Given the description of an element on the screen output the (x, y) to click on. 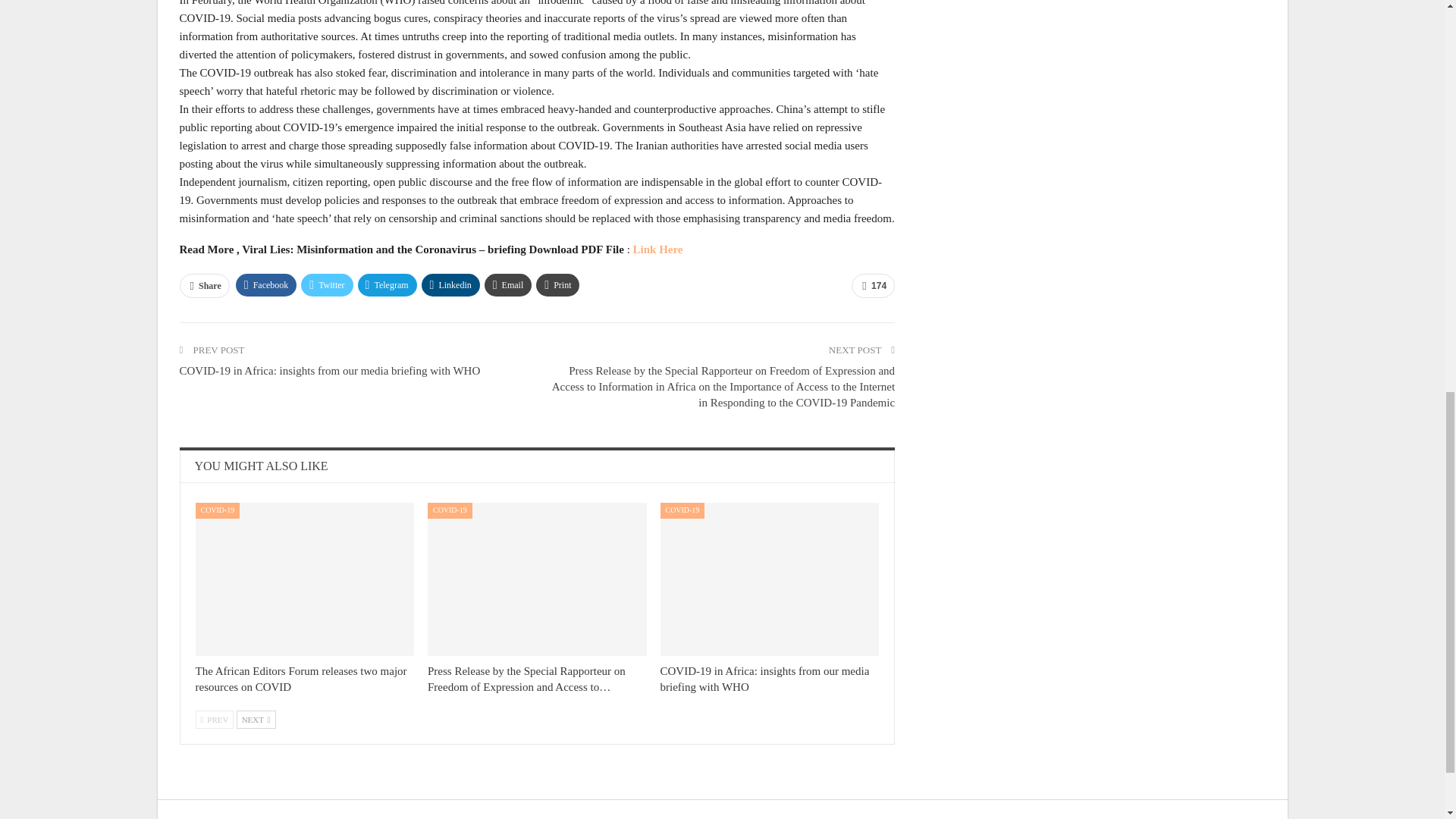
Print (557, 284)
Email (508, 284)
Next (255, 719)
Link Here  (657, 249)
Linkedin (451, 284)
